Given the description of an element on the screen output the (x, y) to click on. 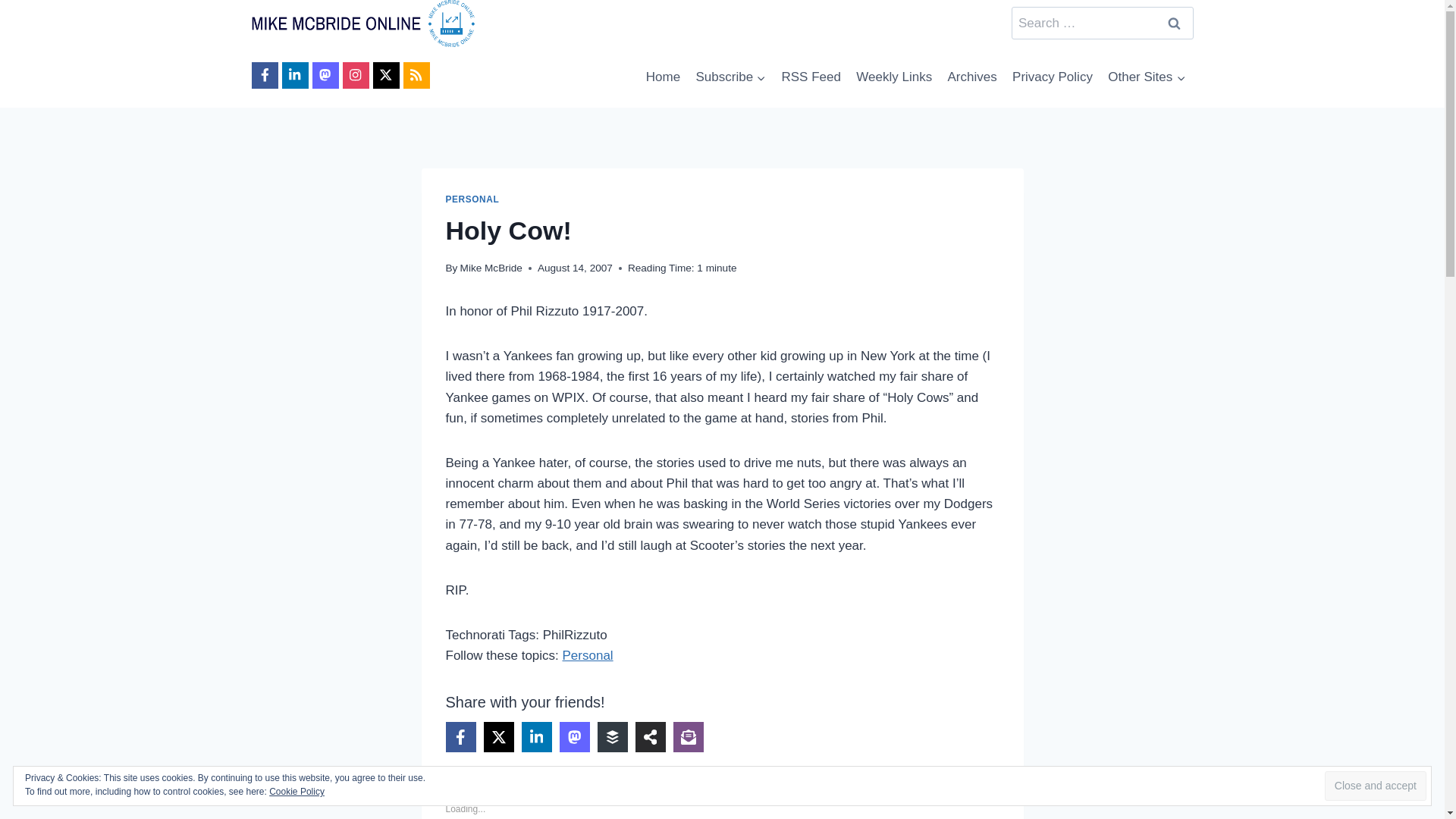
Home (663, 76)
Search (1174, 22)
RSS Feed (810, 76)
Subscribe (730, 76)
Privacy Policy (1052, 76)
Weekly Links (893, 76)
Search (1174, 22)
Personal (587, 655)
Mike McBride (491, 267)
PERSONAL (472, 199)
Other Sites (1146, 76)
Close and accept (1375, 785)
Search (1174, 22)
Archives (971, 76)
